Given the description of an element on the screen output the (x, y) to click on. 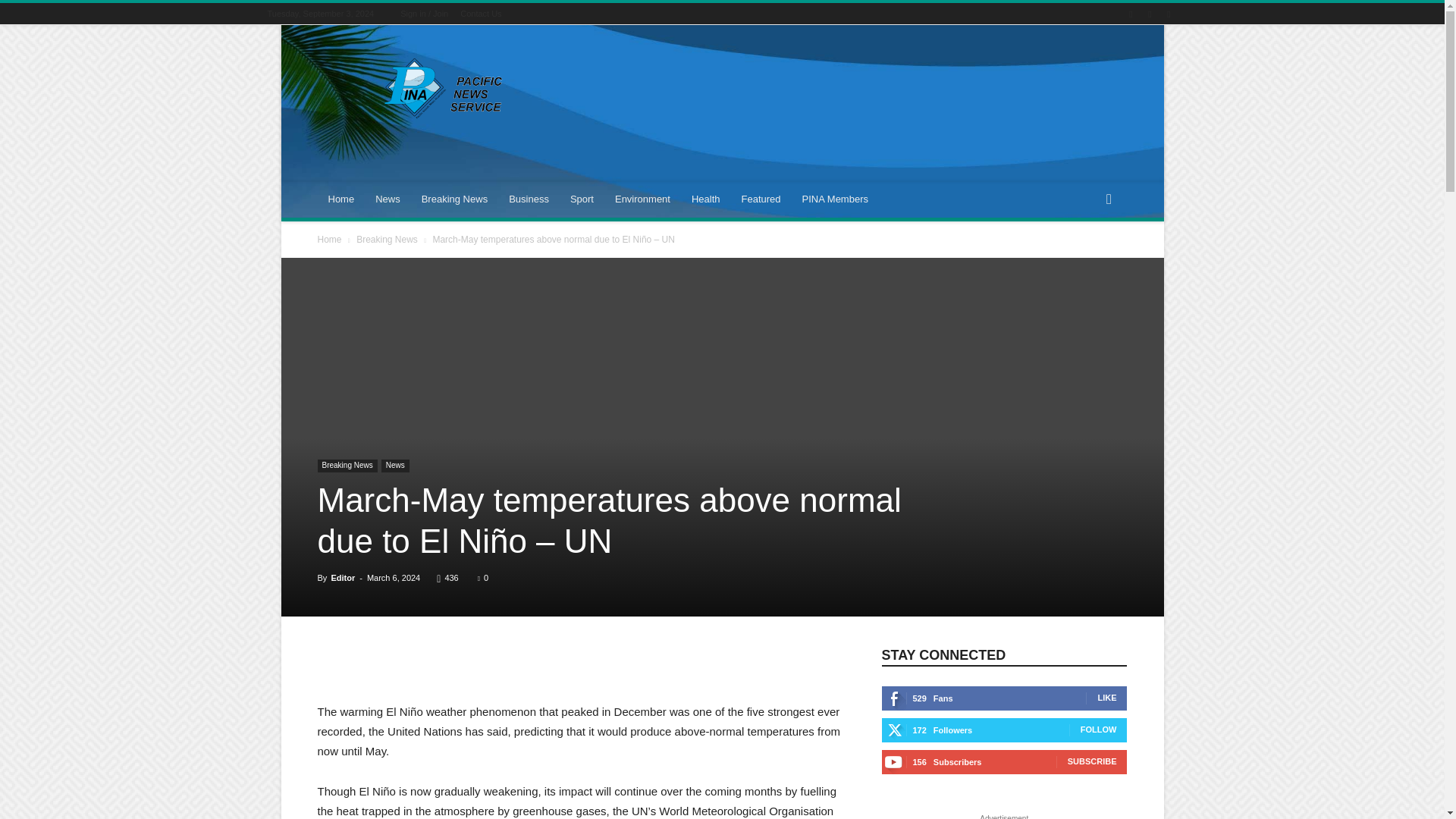
Pacific Islands News Association (445, 88)
Contact Us (480, 13)
Home (341, 198)
News (387, 198)
